Given the description of an element on the screen output the (x, y) to click on. 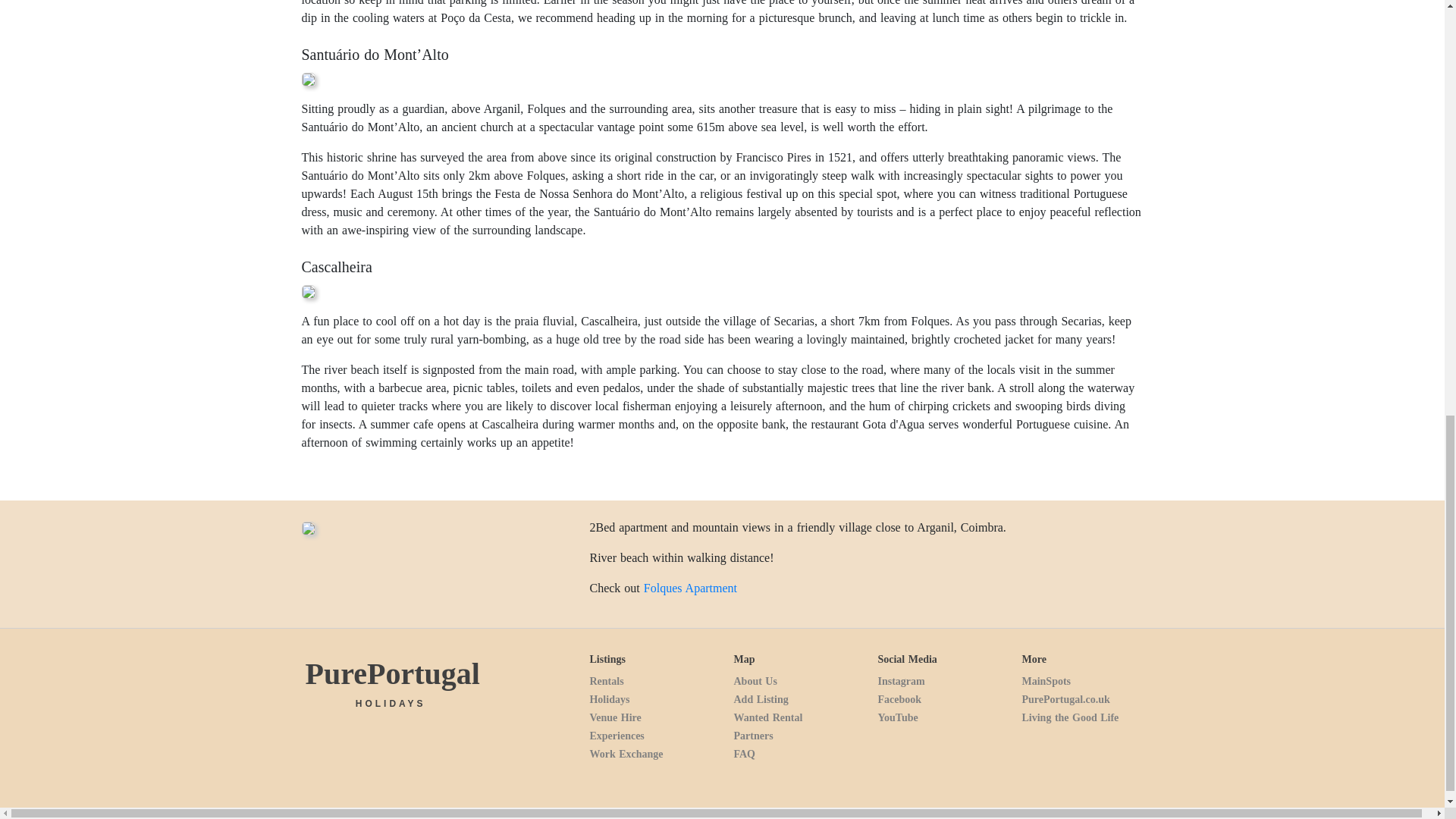
MainSpots (1046, 681)
PurePortugal.co.uk (1065, 699)
Partners (753, 736)
Work Exchange (625, 754)
Add Listing (760, 699)
Folques Apartment (689, 587)
Experiences (616, 736)
Holidays (608, 699)
Venue Hire (614, 717)
Wanted Rental (767, 717)
